Given the description of an element on the screen output the (x, y) to click on. 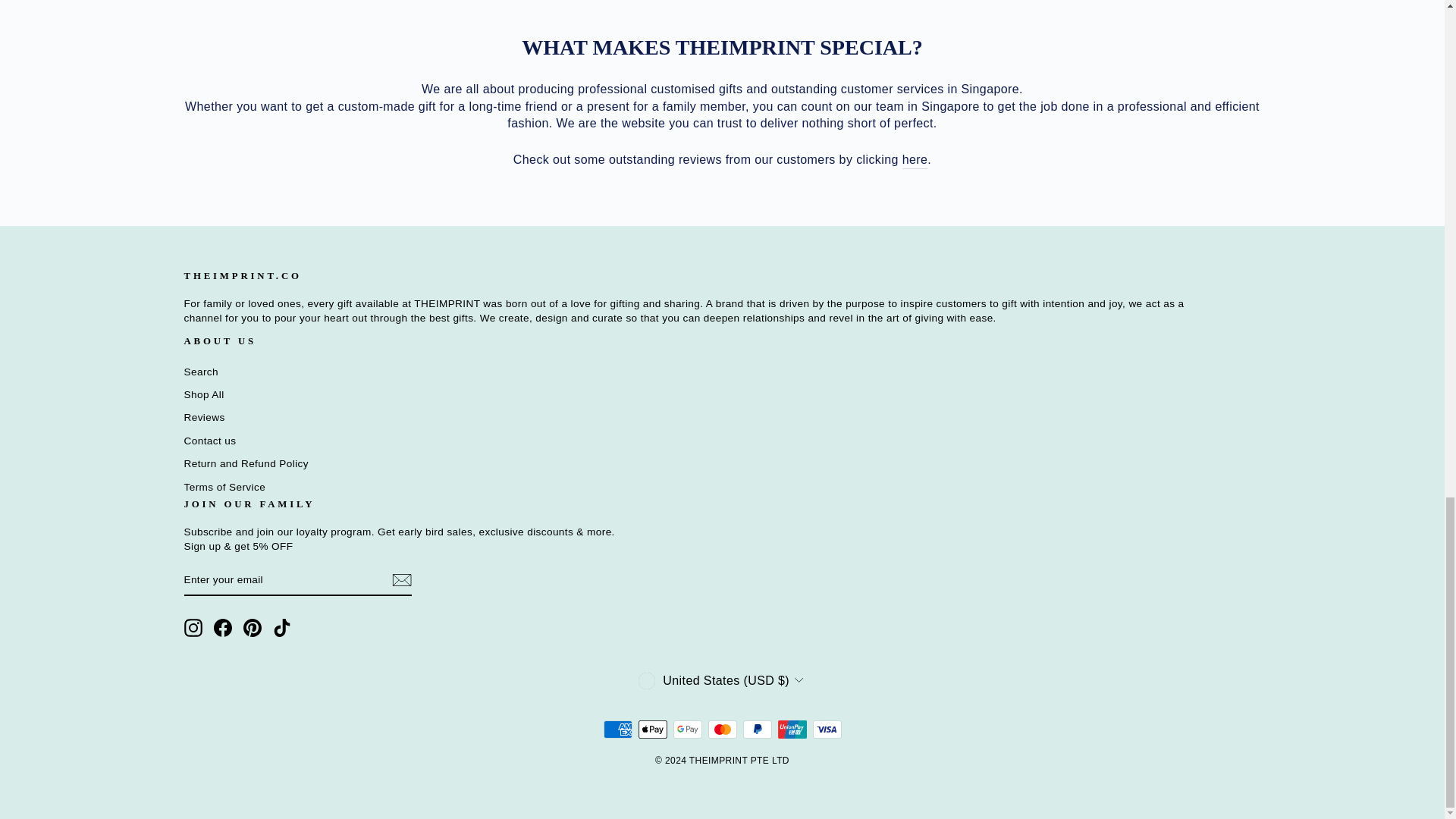
THEIMPRINT PTE LTD on Instagram (192, 628)
Mastercard (721, 729)
THEIMPRINT PTE LTD on Pinterest (251, 628)
Apple Pay (652, 729)
TheImprint Singapore Reviews (915, 159)
Google Pay (686, 729)
American Express (617, 729)
Union Pay (791, 729)
Visa (826, 729)
THEIMPRINT PTE LTD on TikTok (282, 628)
THEIMPRINT PTE LTD on Facebook (222, 628)
PayPal (756, 729)
